Given the description of an element on the screen output the (x, y) to click on. 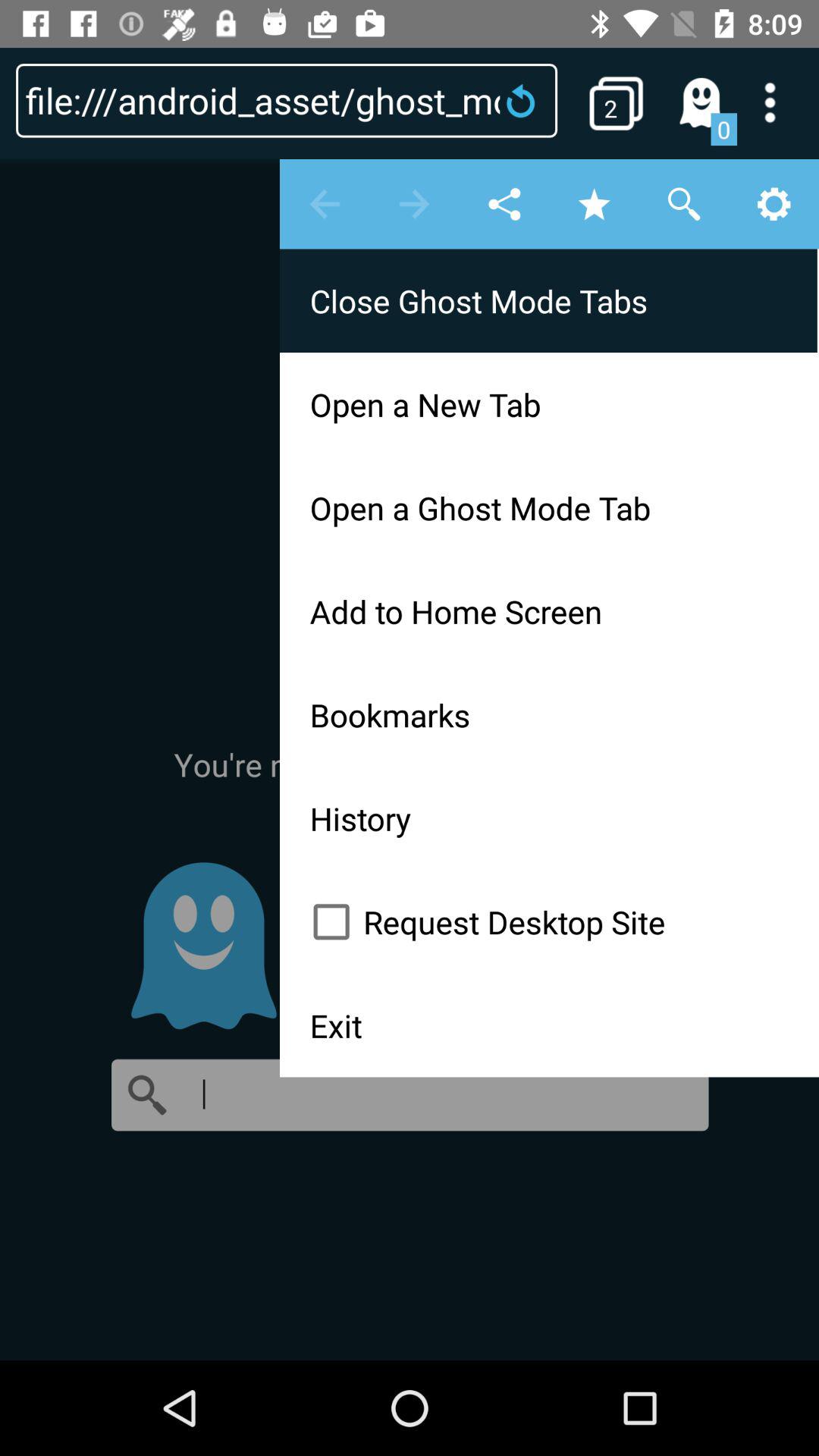
additional options (780, 102)
